Given the description of an element on the screen output the (x, y) to click on. 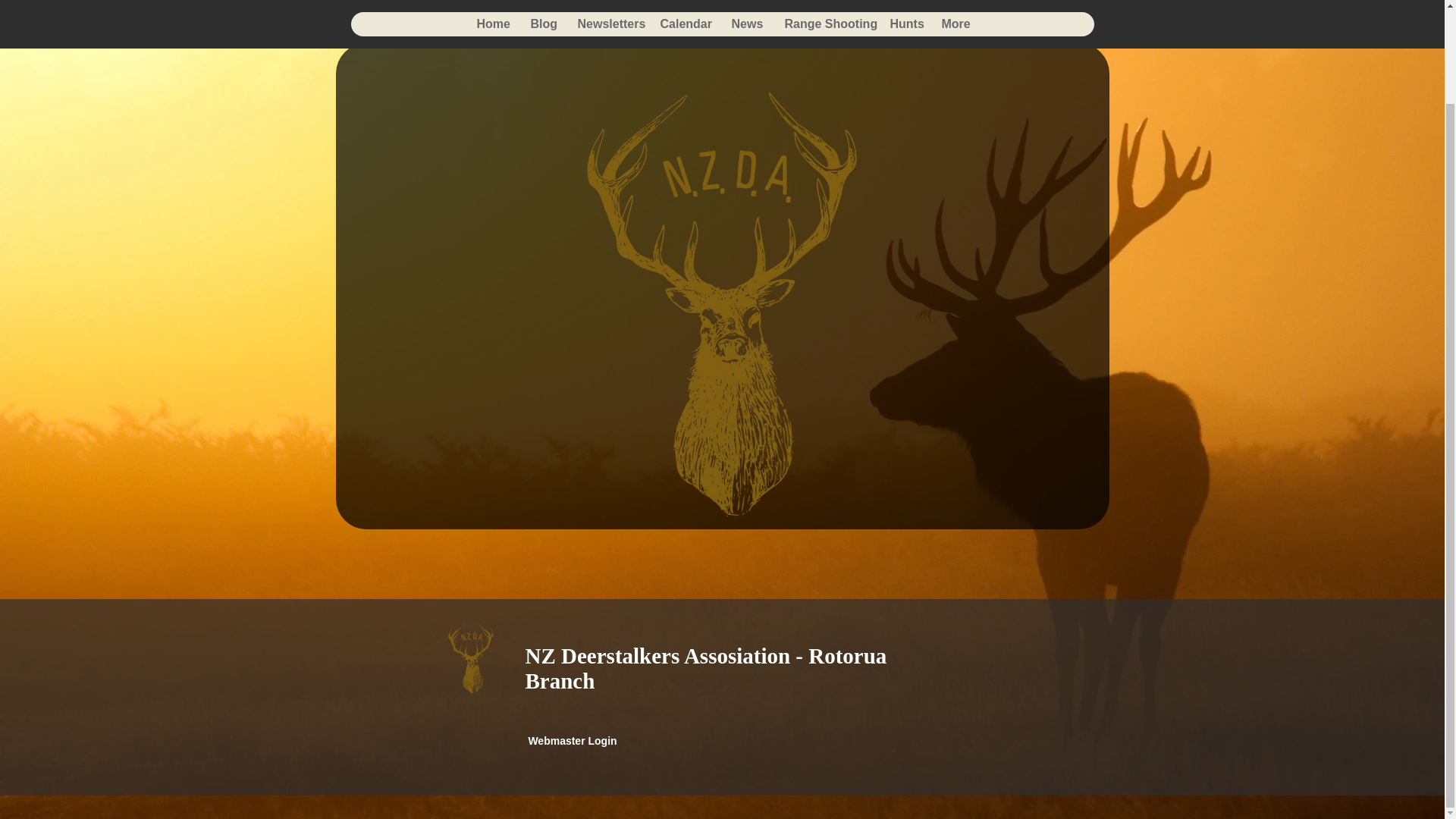
Take me to NZDA (470, 657)
devplans.png (722, 4)
Webmaster Login (572, 741)
